Given the description of an element on the screen output the (x, y) to click on. 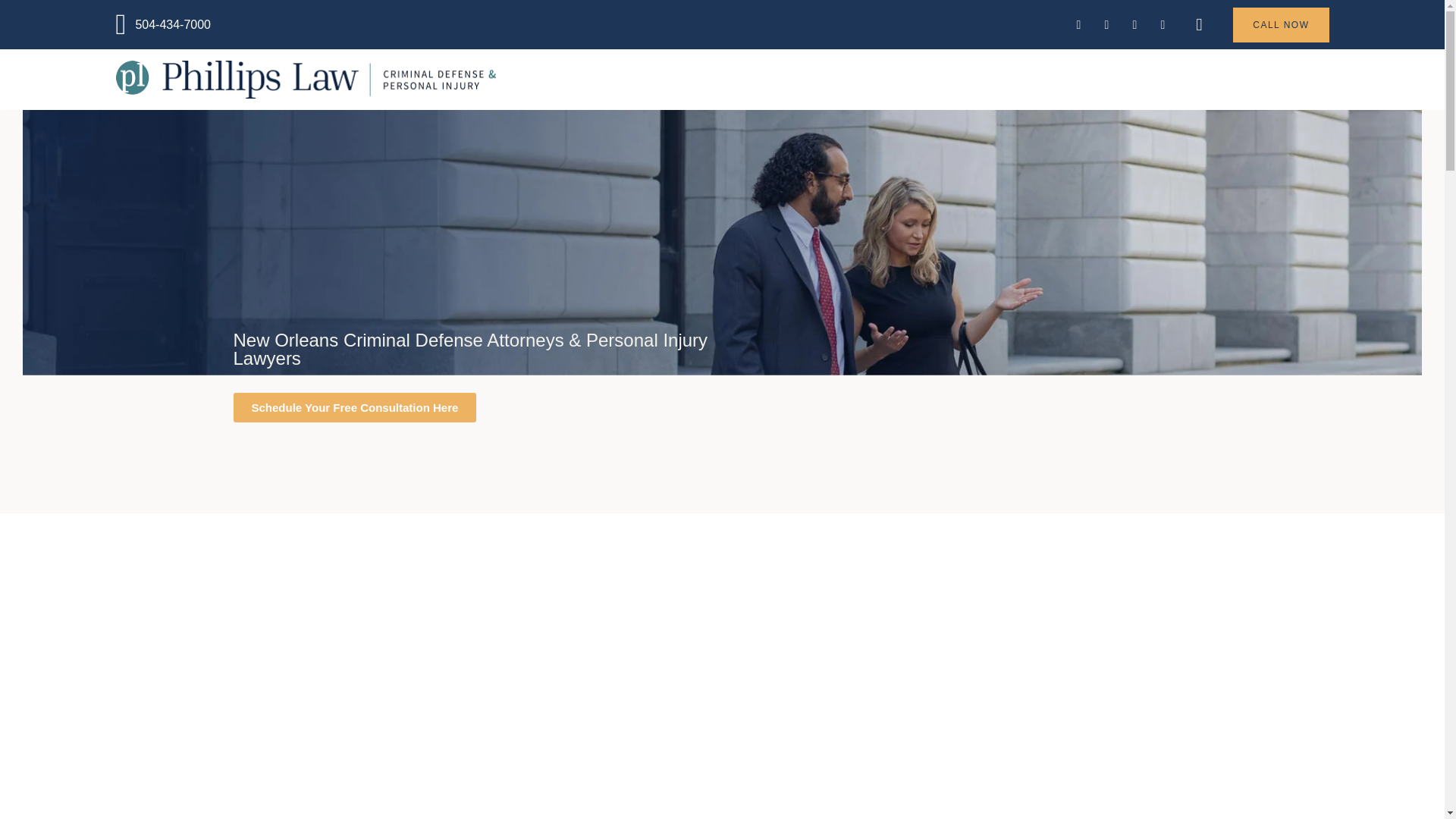
CALL NOW (1280, 24)
504-434-7000 (294, 24)
